Given the description of an element on the screen output the (x, y) to click on. 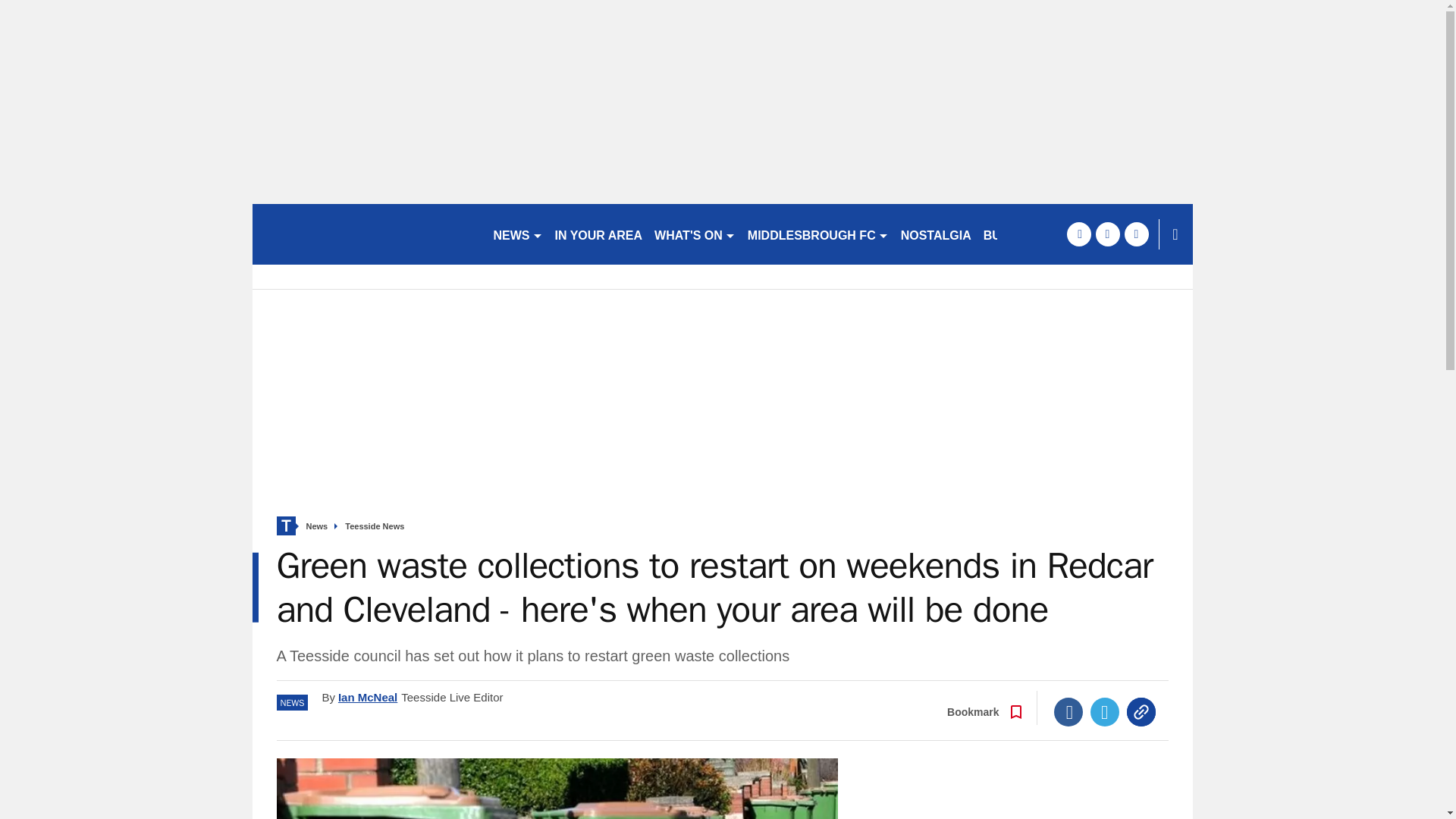
MIDDLESBROUGH FC (818, 233)
IN YOUR AREA (598, 233)
NOSTALGIA (935, 233)
twitter (1106, 233)
instagram (1136, 233)
Twitter (1104, 711)
WHAT'S ON (694, 233)
facebook (1077, 233)
Facebook (1068, 711)
BUSINESS (1013, 233)
NEWS (517, 233)
gazettelive (365, 233)
